Given the description of an element on the screen output the (x, y) to click on. 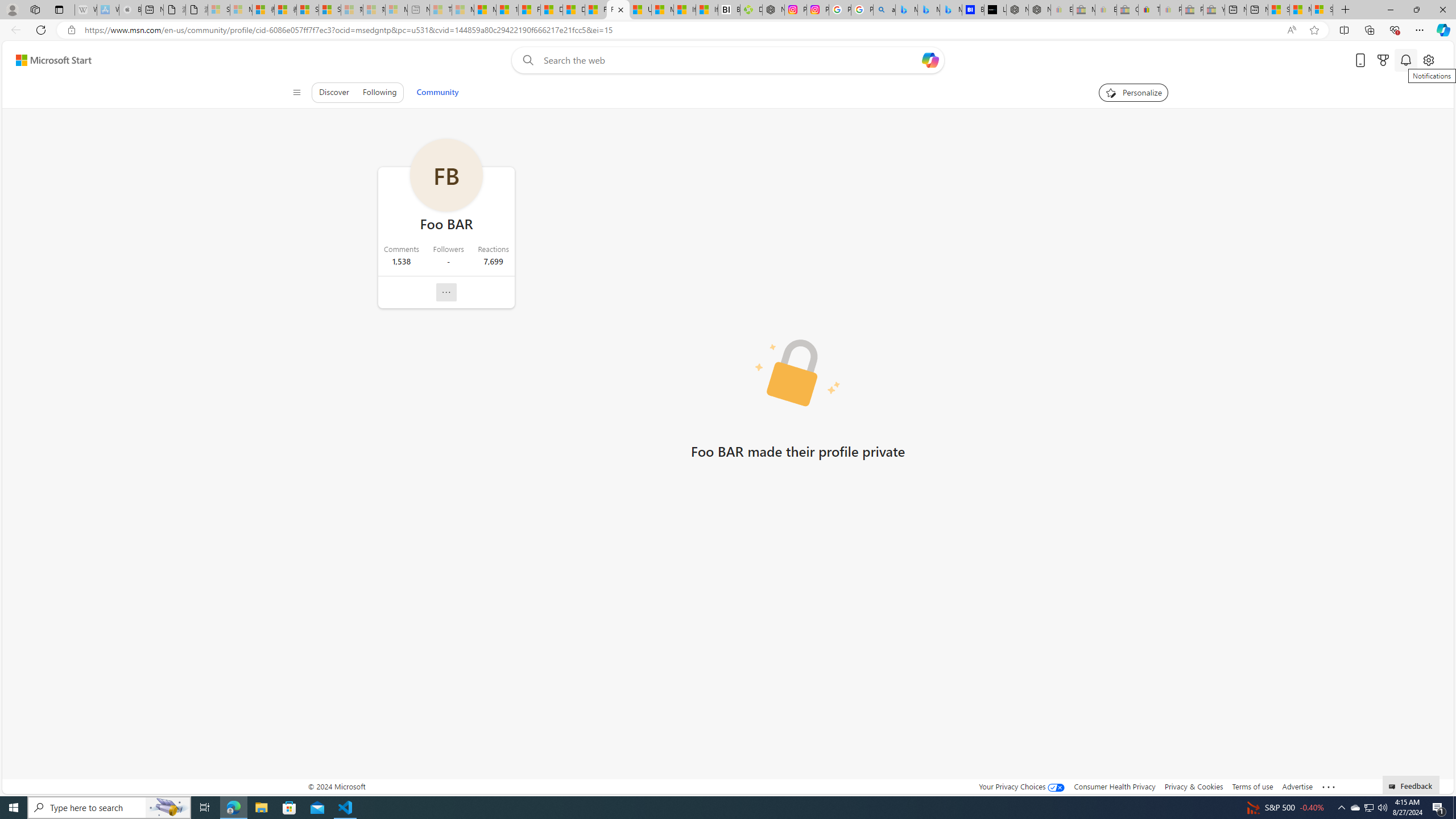
Class: oneFooter_seeMore-DS-EntryPoint1-1 (1328, 786)
Class: control icon-only (296, 92)
Marine life - MSN - Sleeping (462, 9)
Sign in to your Microsoft account - Sleeping (218, 9)
